Given the description of an element on the screen output the (x, y) to click on. 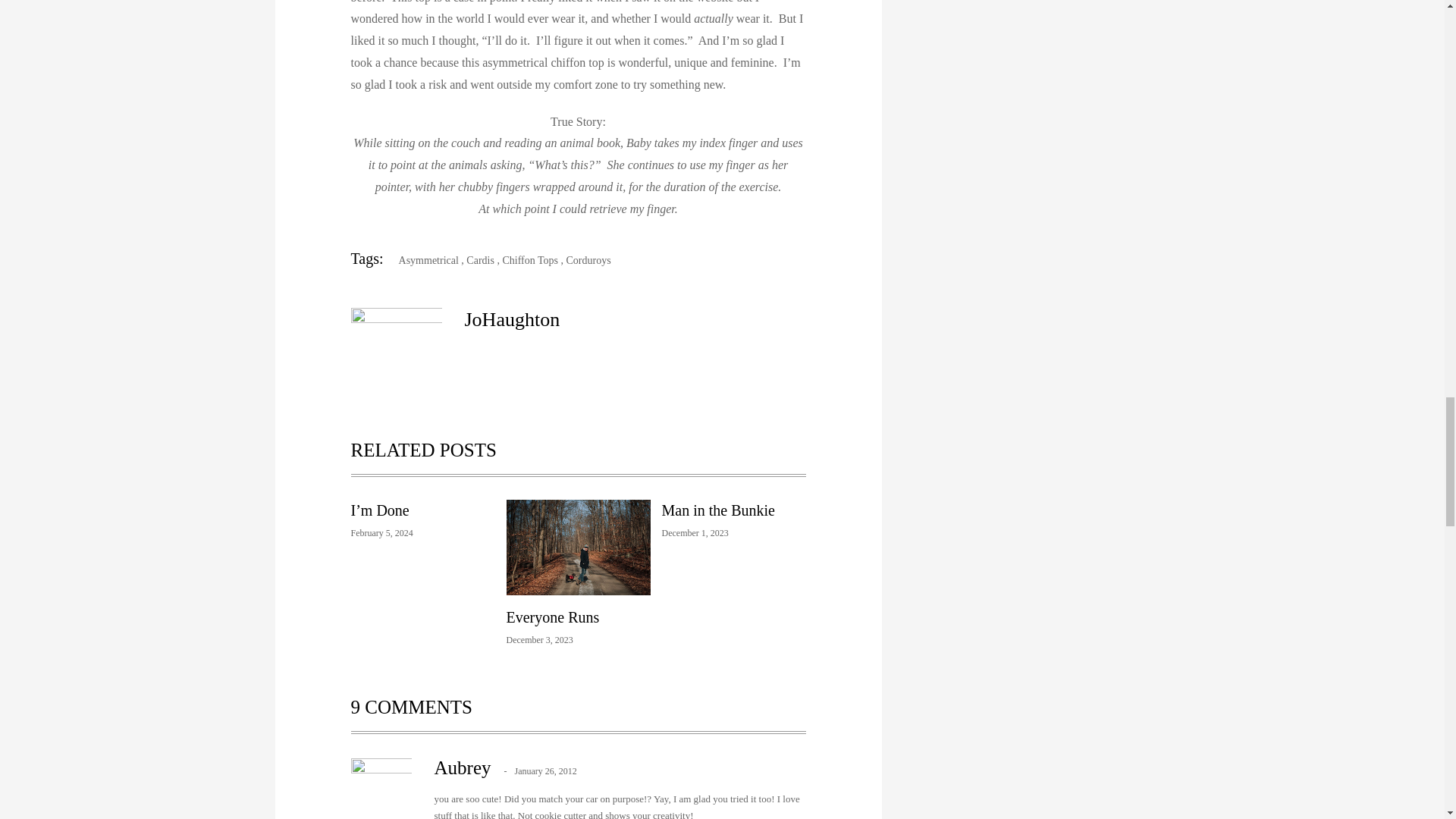
Aubrey (461, 767)
Corduroys (588, 260)
Man in the Bunkie (717, 510)
Everyone Runs (552, 617)
Cardis (480, 260)
Chiffon Tops (529, 260)
Asymmetrical (422, 260)
